Given the description of an element on the screen output the (x, y) to click on. 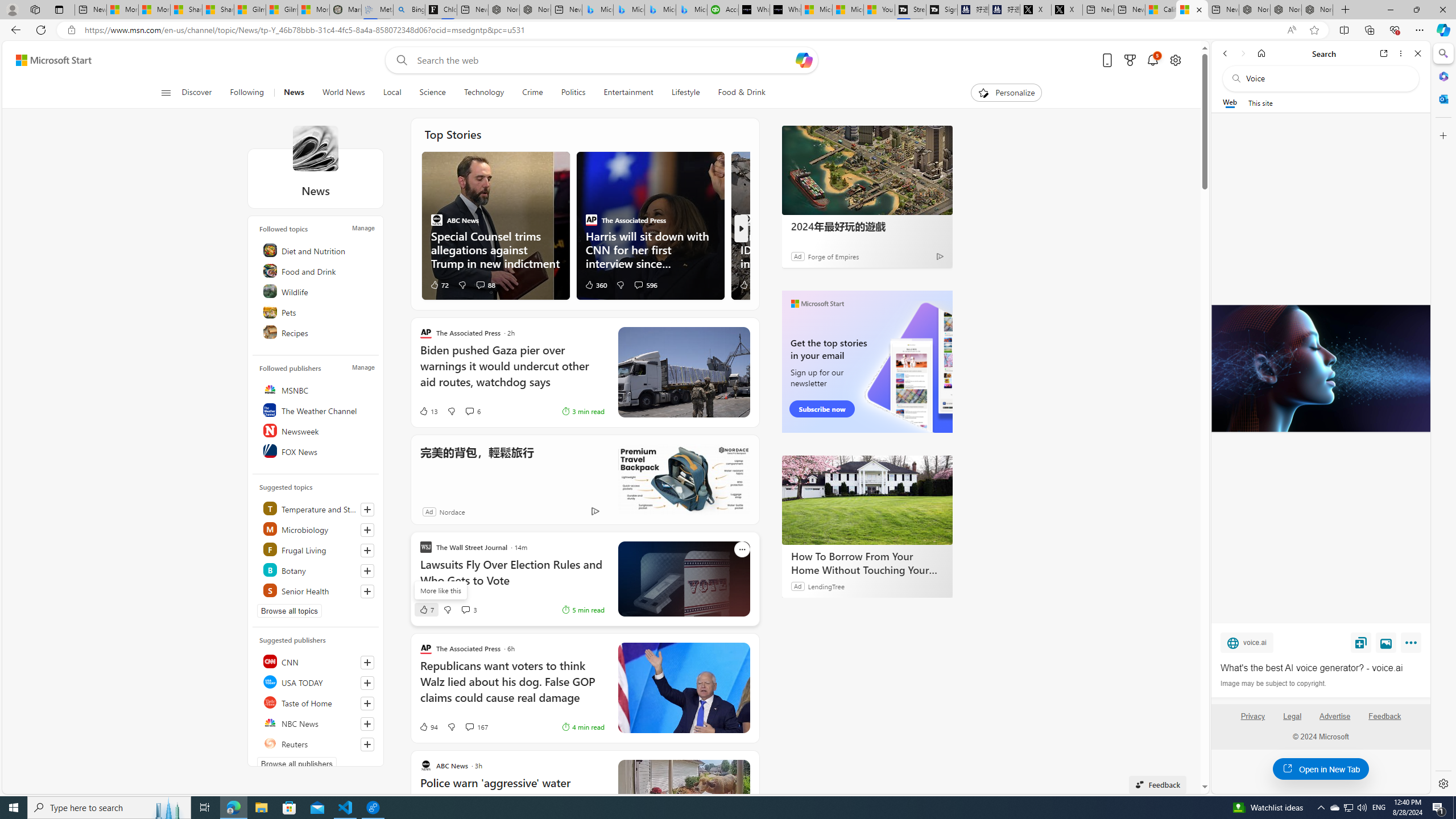
Food & Drink (741, 92)
Microsoft Bing Travel - Stays in Bangkok, Bangkok, Thailand (628, 9)
Outlook (1442, 98)
How To Borrow From Your Home Without Touching Your Mortgage (866, 499)
Microsoft Bing Travel - Shangri-La Hotel Bangkok (691, 9)
Technology (483, 92)
7 Like (425, 609)
Open link in new tab (1383, 53)
NBC News (317, 723)
World News (343, 92)
View image (1385, 642)
